Given the description of an element on the screen output the (x, y) to click on. 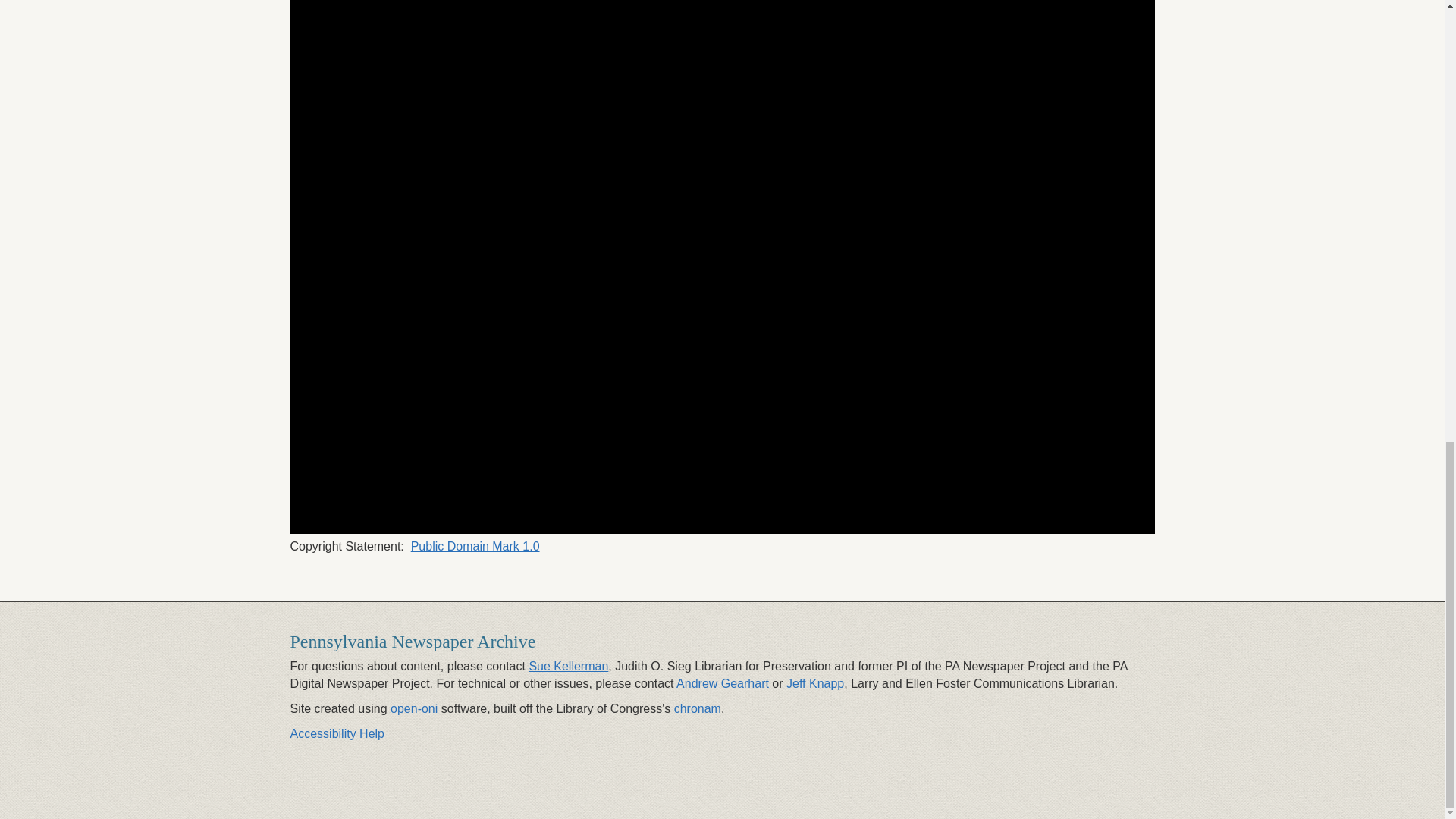
Andrew Gearhart (722, 683)
chronam (697, 707)
Sue Kellerman (568, 666)
open-oni (414, 707)
Public Domain Mark 1.0 (475, 545)
Jeff Knapp (815, 683)
Accessibility Help (336, 733)
